Given the description of an element on the screen output the (x, y) to click on. 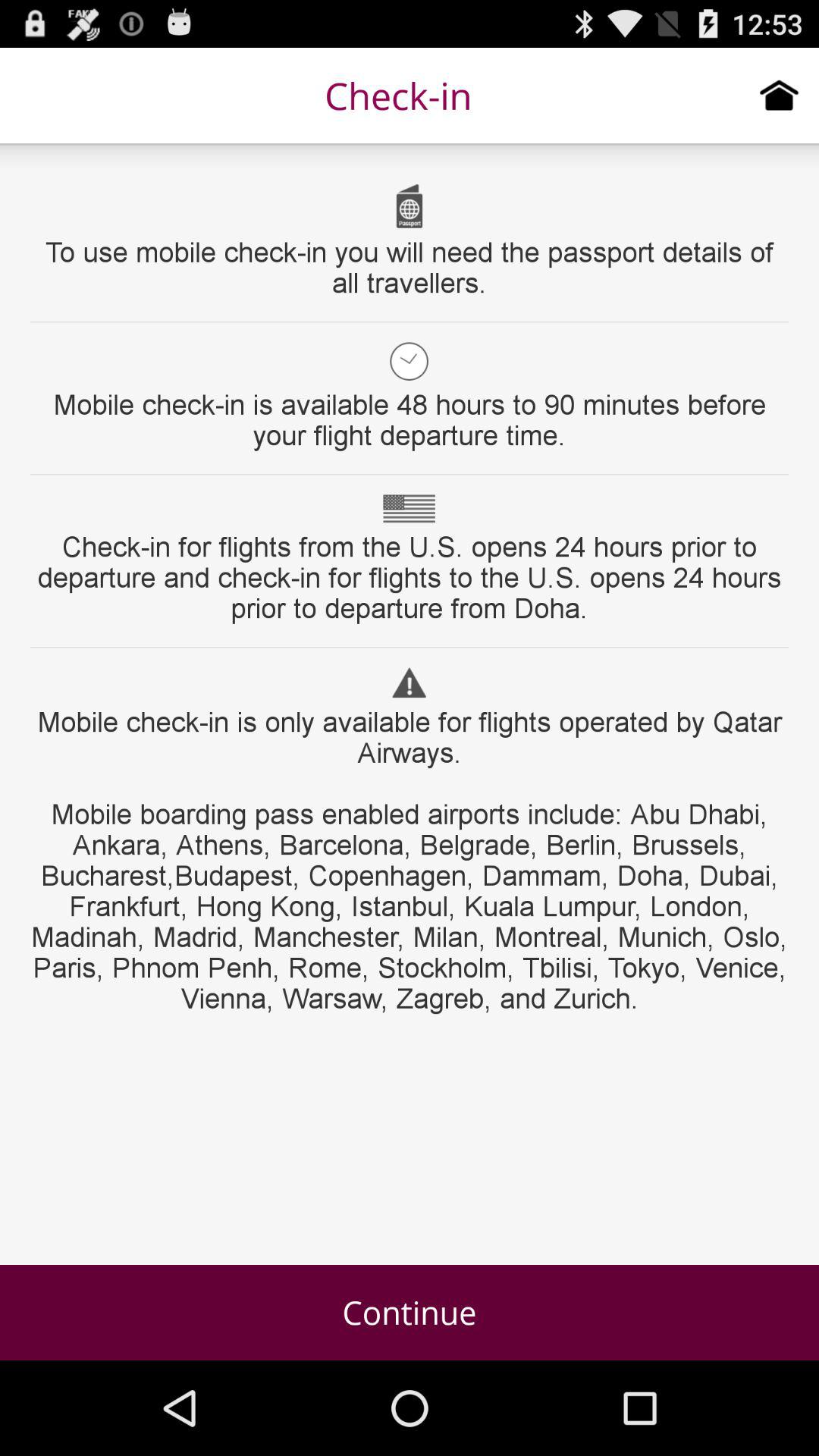
go to home (779, 95)
